Given the description of an element on the screen output the (x, y) to click on. 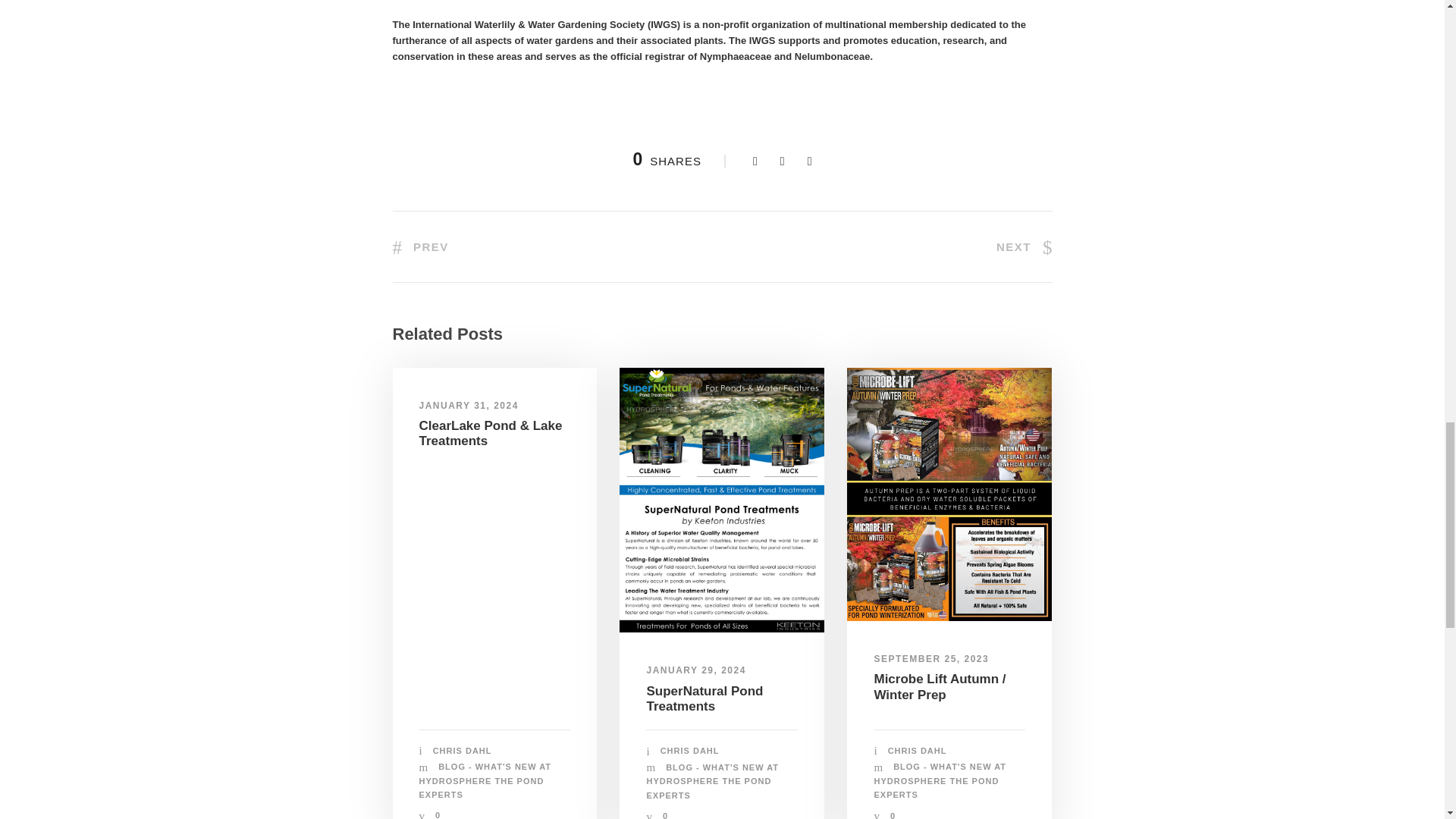
Posts by Chris Dahl (917, 750)
Posts by Chris Dahl (690, 750)
Posts by Chris Dahl (462, 750)
